Given the description of an element on the screen output the (x, y) to click on. 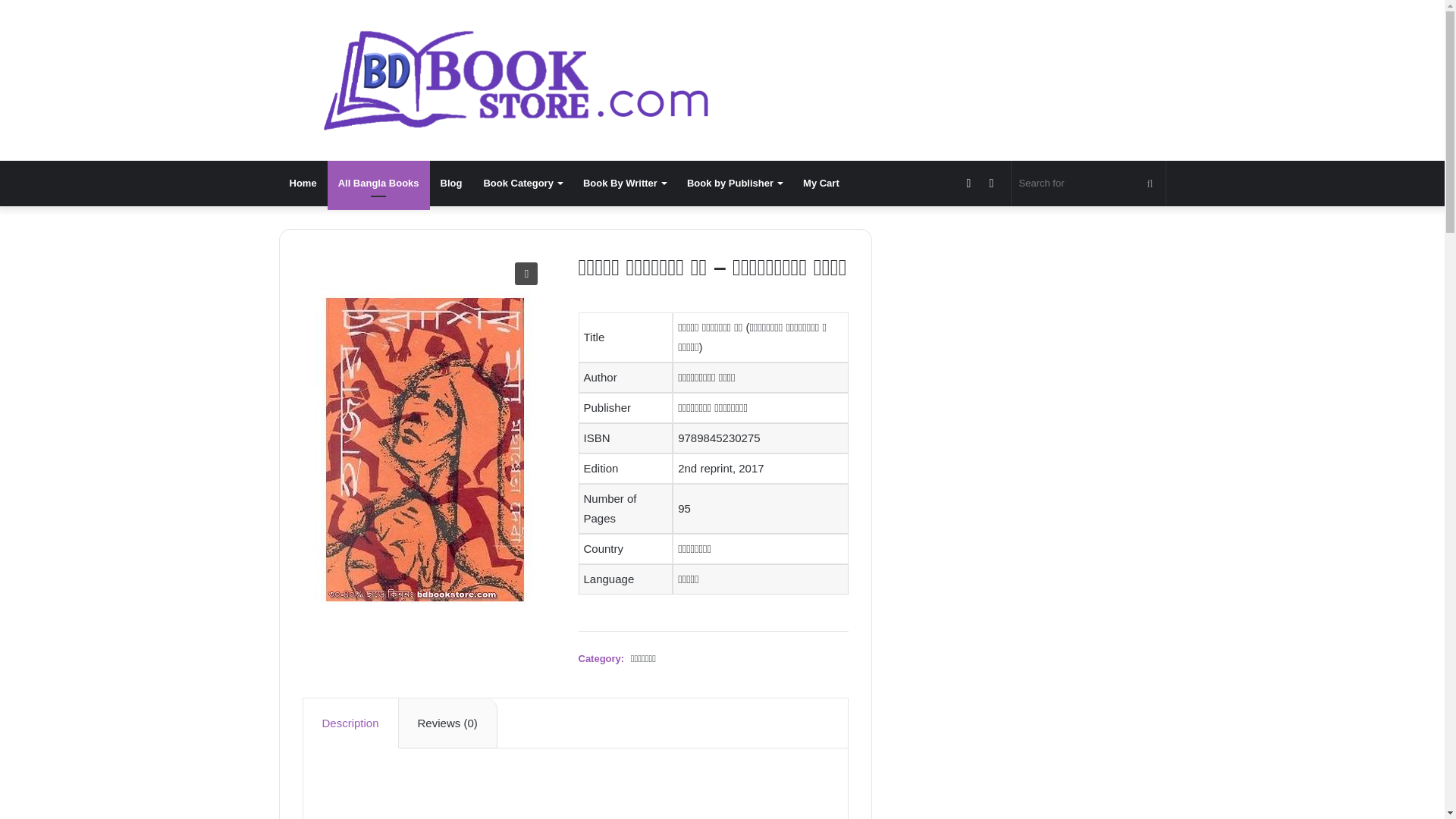
All Bangla Books (378, 183)
Book By Writter (624, 183)
Book by Publisher (734, 183)
Home (303, 183)
Search for (1088, 183)
Blog (451, 183)
Advertisement (575, 797)
My Cart (821, 183)
Book Category (521, 183)
